Given the description of an element on the screen output the (x, y) to click on. 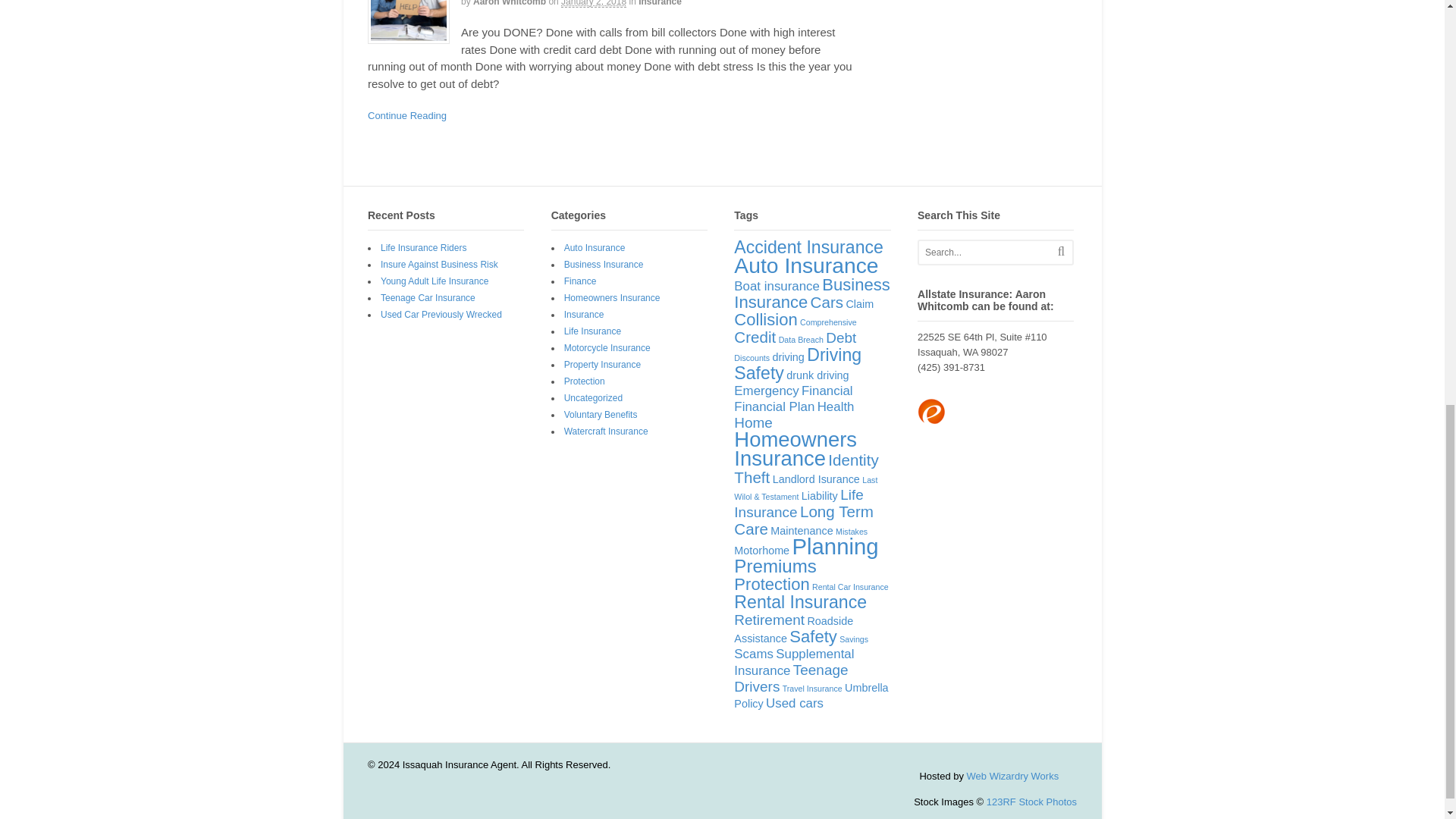
Continue Reading (407, 115)
Search... (989, 251)
Aaron Whitcomb (509, 3)
Insurance (660, 3)
